Given the description of an element on the screen output the (x, y) to click on. 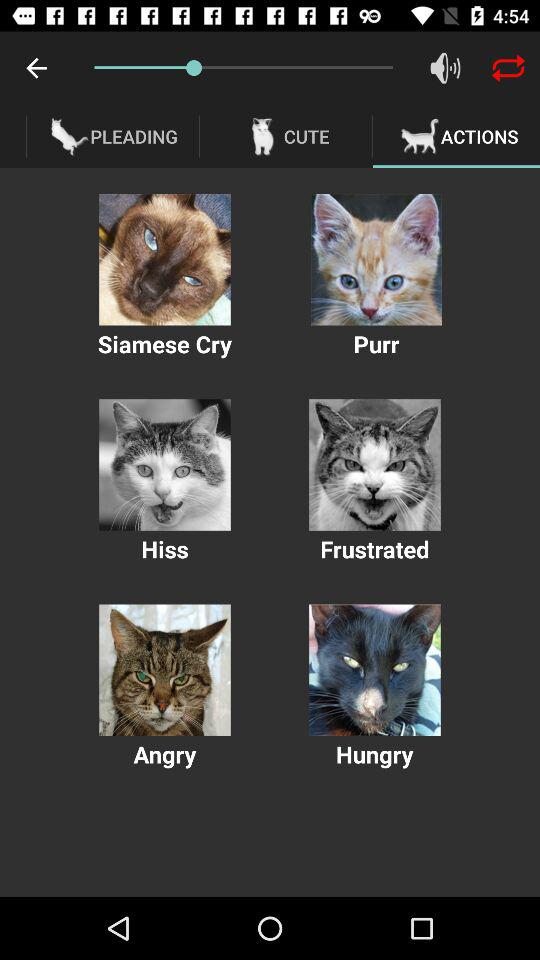
sound (445, 67)
